Given the description of an element on the screen output the (x, y) to click on. 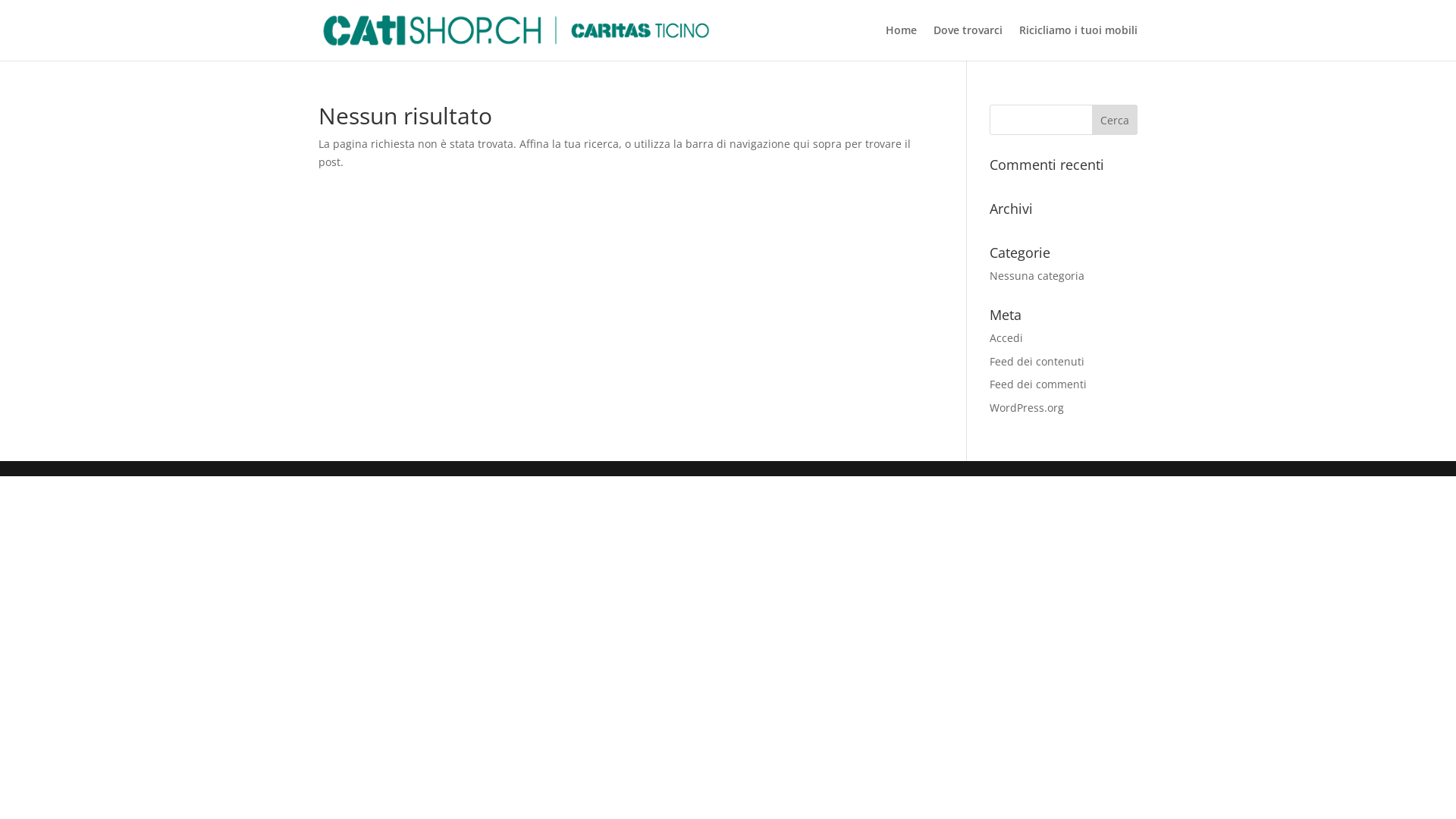
Accedi Element type: text (1005, 337)
Ricicliamo i tuoi mobili Element type: text (1078, 42)
Home Element type: text (900, 42)
WordPress.org Element type: text (1026, 407)
Feed dei contenuti Element type: text (1036, 361)
Dove trovarci Element type: text (967, 42)
Feed dei commenti Element type: text (1037, 383)
Cerca Element type: text (1114, 119)
